Given the description of an element on the screen output the (x, y) to click on. 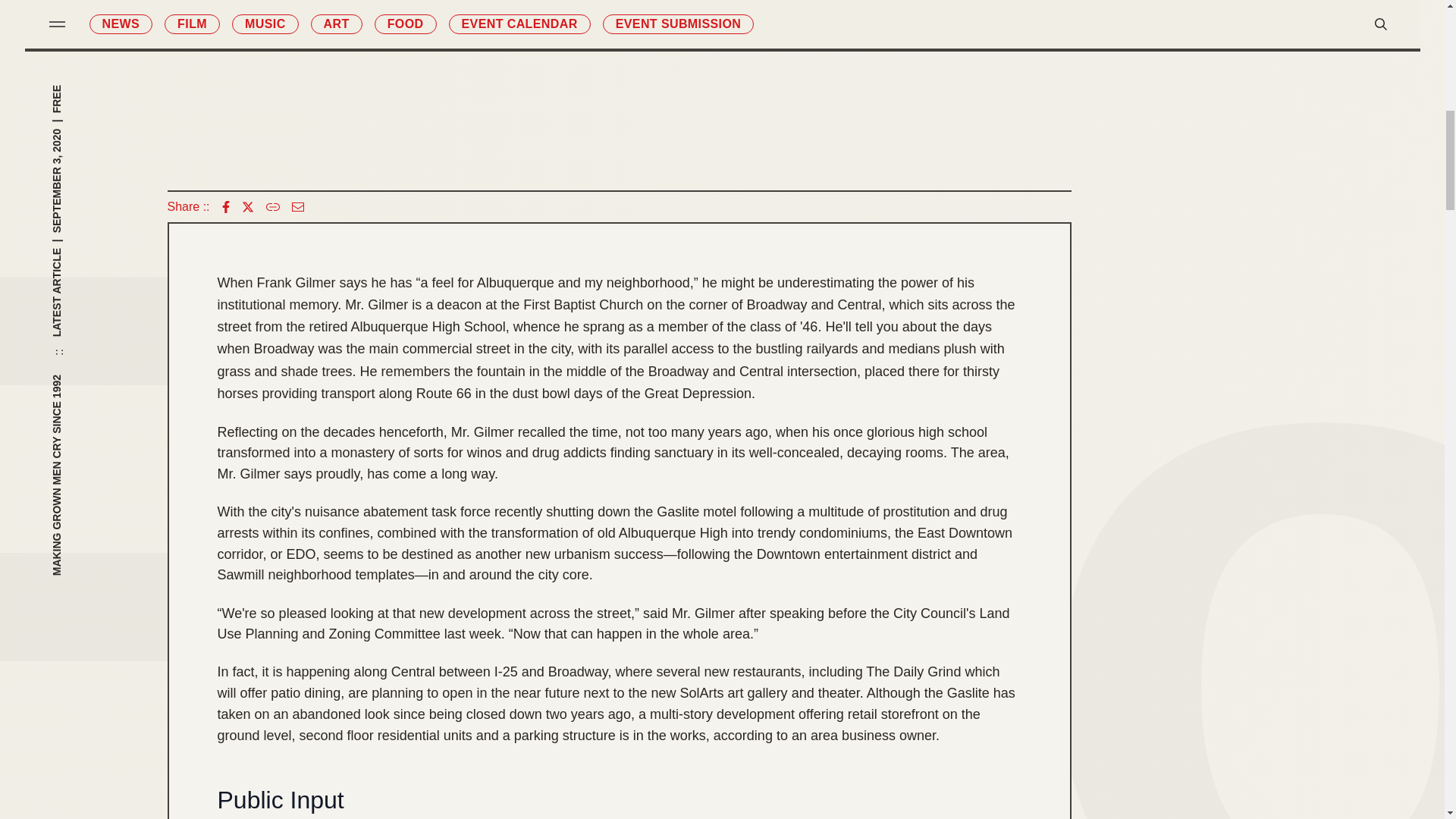
Advertisement (1280, 227)
